Given the description of an element on the screen output the (x, y) to click on. 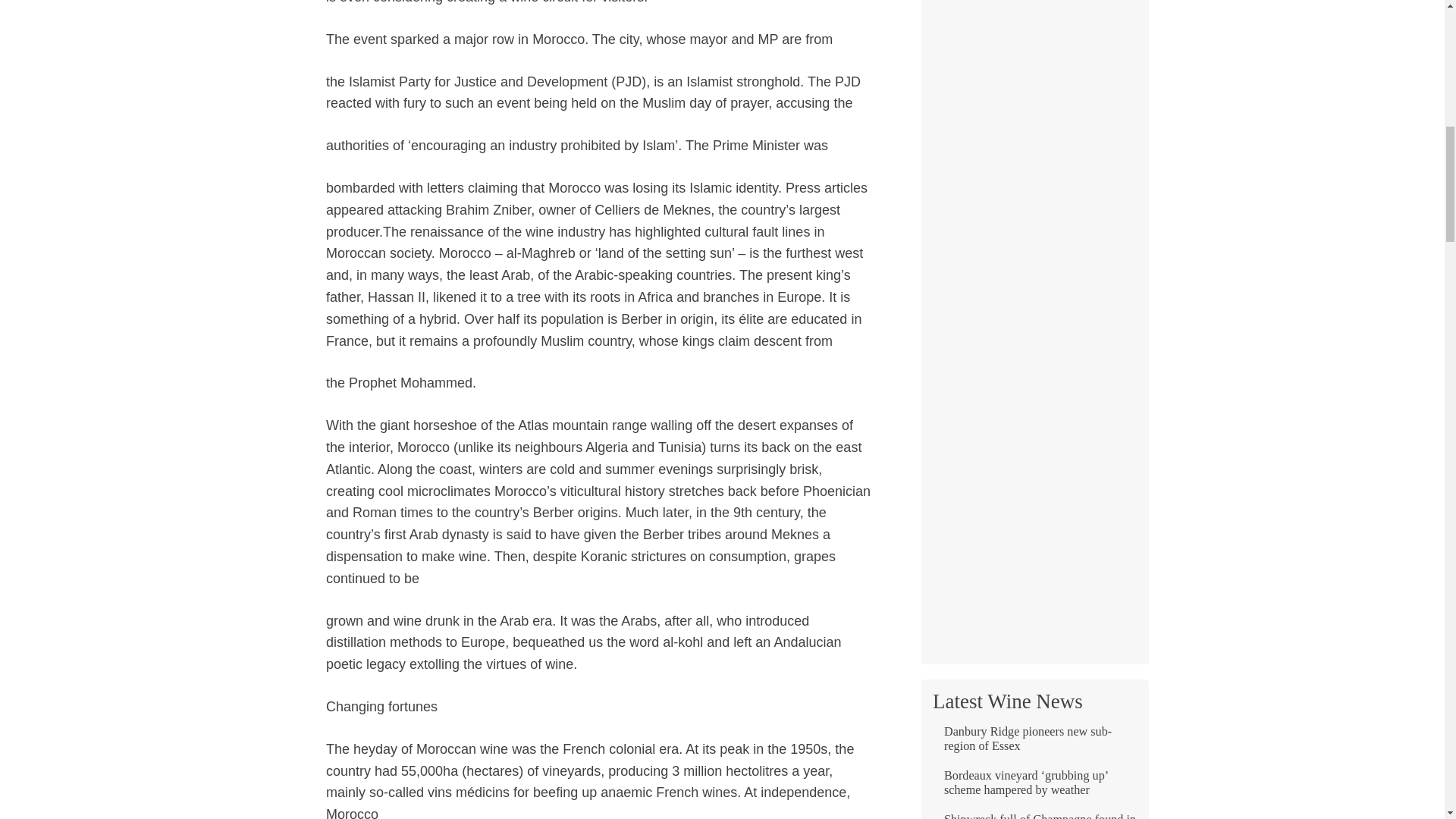
Danbury Ridge pioneers new sub-region of Essex (1035, 744)
Shipwreck full of Champagne found in Baltic Sea (1035, 816)
